Given the description of an element on the screen output the (x, y) to click on. 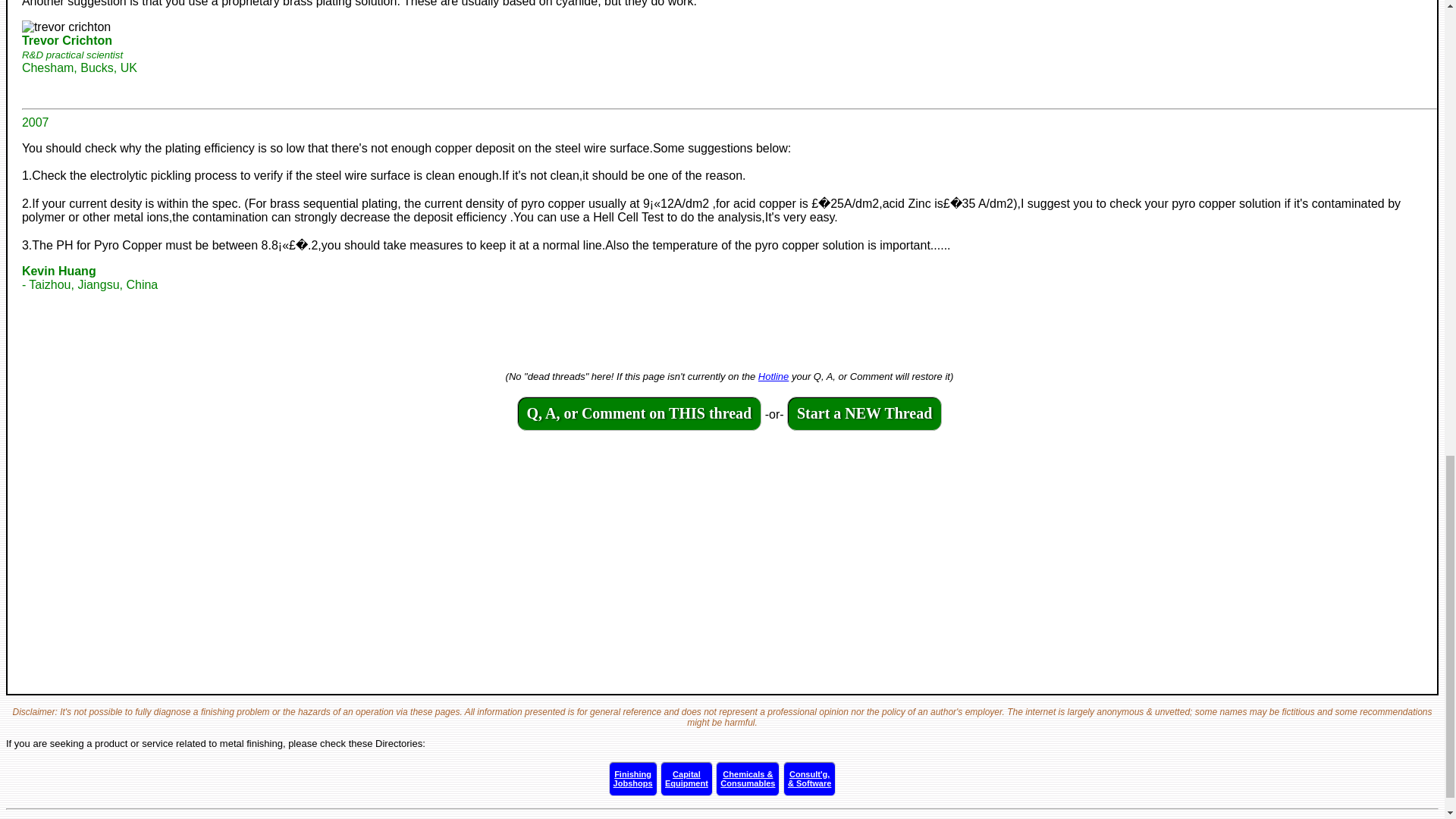
Q, A, or Comment on THIS thread (638, 413)
Hotline (687, 778)
Advertisement (773, 376)
